Given the description of an element on the screen output the (x, y) to click on. 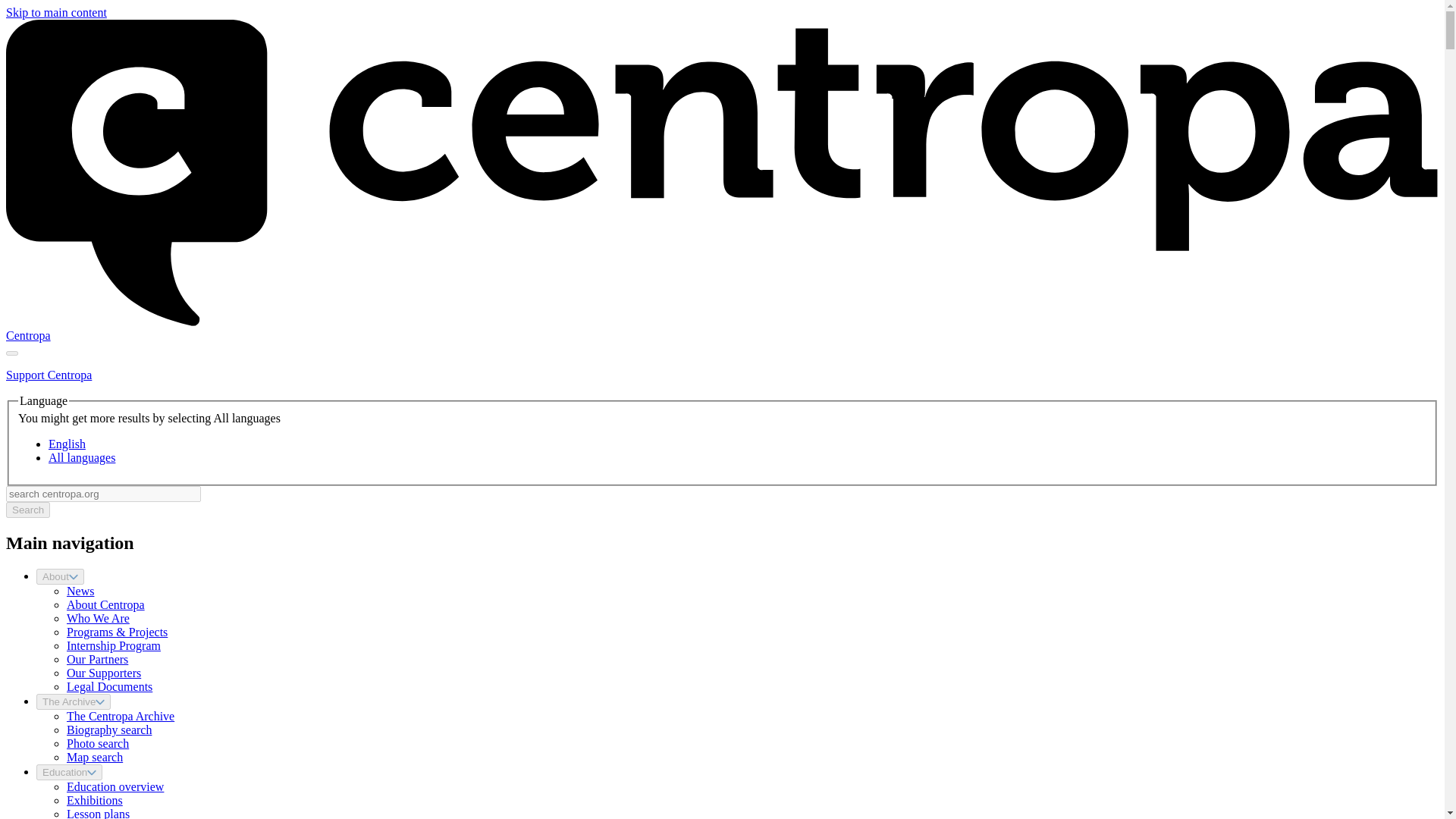
English (66, 443)
Lesson plans (97, 813)
Our Partners (97, 658)
The Archive (73, 701)
Legal Documents (109, 686)
Skip to main content (55, 11)
Education (68, 772)
Map search (94, 757)
All languages (81, 457)
News (80, 590)
Internship Program (113, 645)
About (60, 576)
Who We Are (97, 617)
The Centropa Archive (120, 716)
Support Centropa (48, 374)
